Given the description of an element on the screen output the (x, y) to click on. 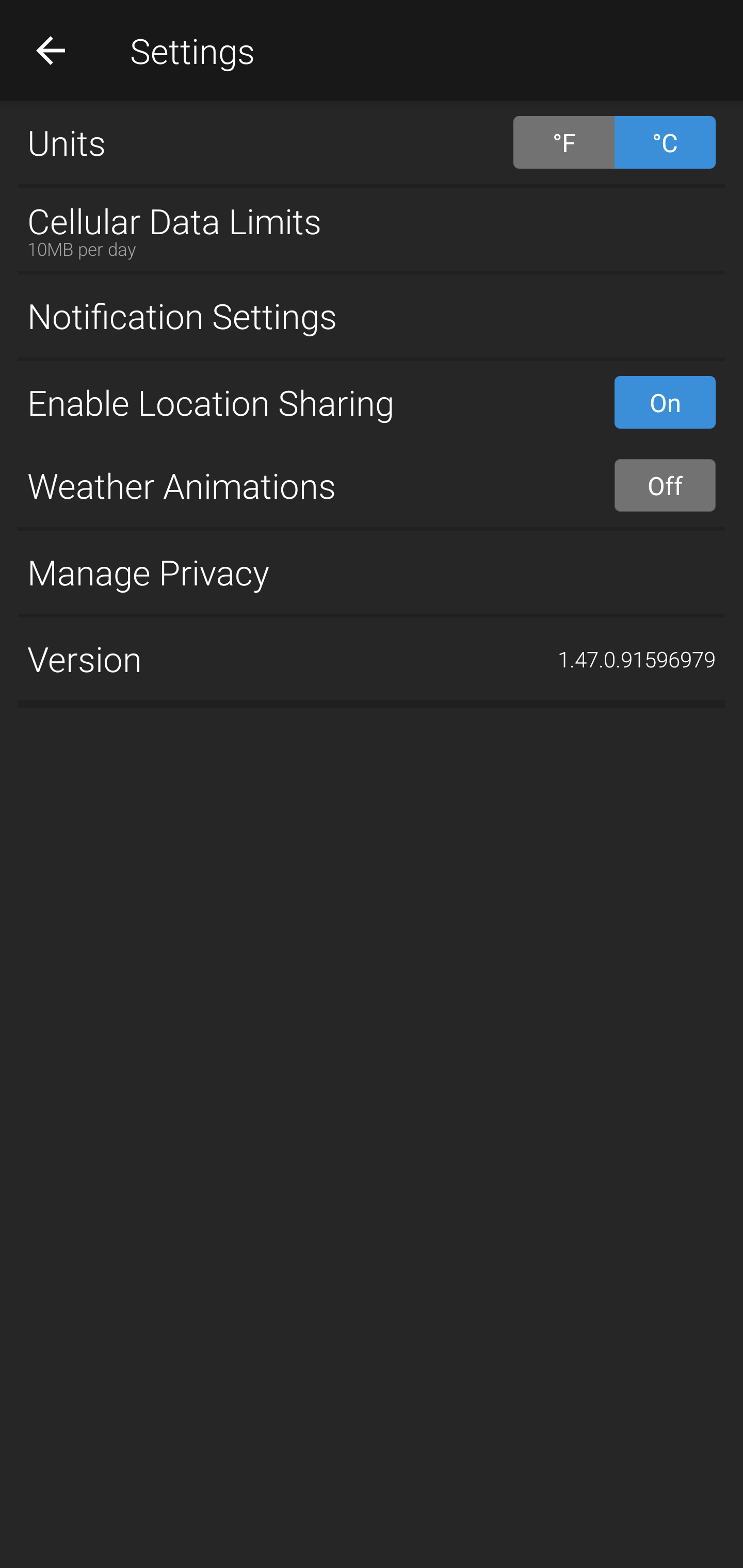
Navigate up (50, 50)
°F (563, 142)
°C (664, 142)
Cellular Data Limits 10MB per day (371, 229)
Notification Settings (371, 315)
Enable Location Sharing On (371, 401)
On (664, 402)
Weather Animations Off (371, 484)
Off (664, 485)
Manage Privacy (371, 571)
1.47.0.91596979 (636, 658)
